Given the description of an element on the screen output the (x, y) to click on. 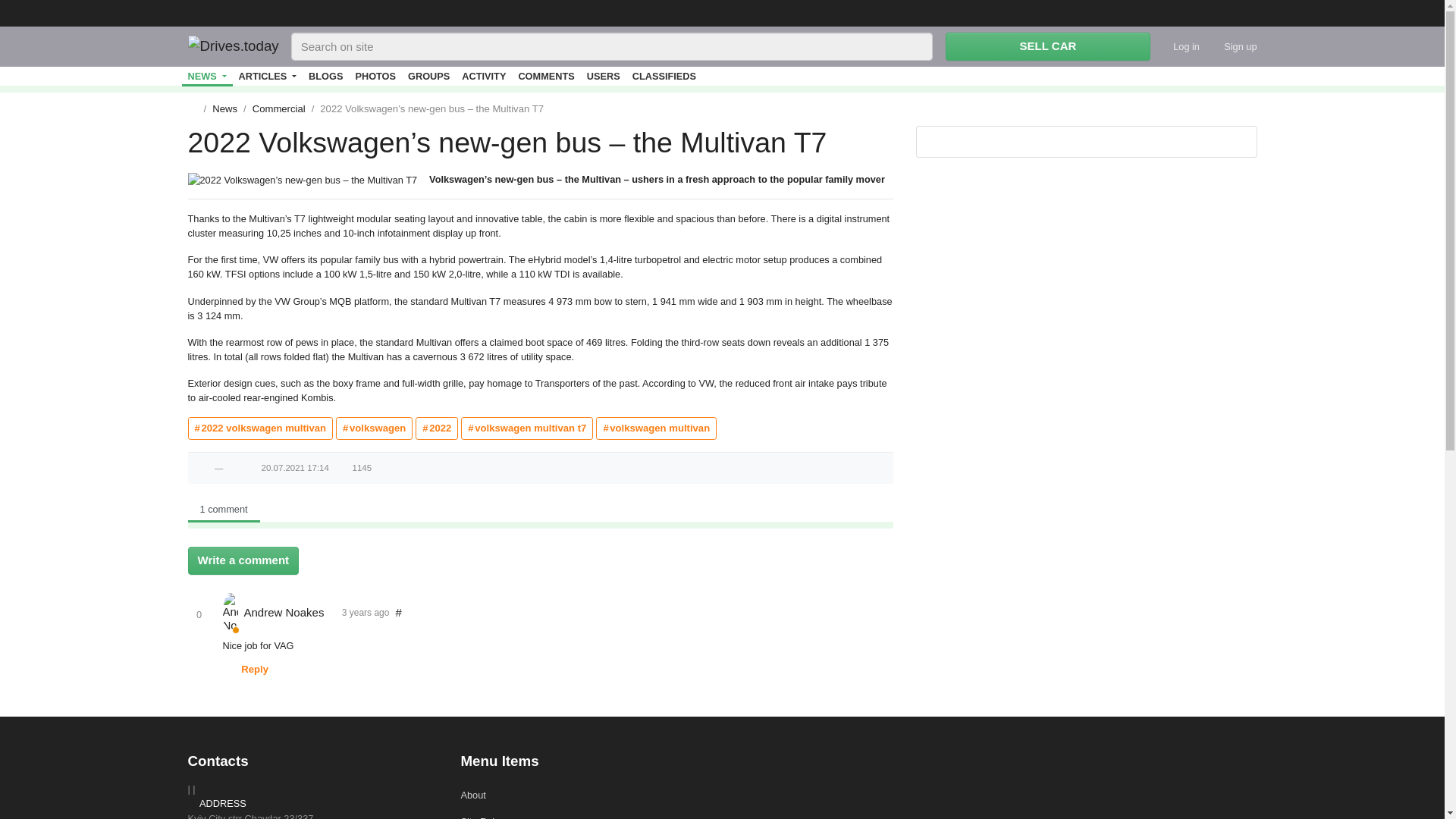
News (207, 76)
Log in (1179, 46)
Sign up (1228, 46)
NEWS (207, 76)
SELL CAR (1047, 46)
ARTICLES (267, 76)
Sign up (1228, 46)
Log in (1179, 46)
